Given the description of an element on the screen output the (x, y) to click on. 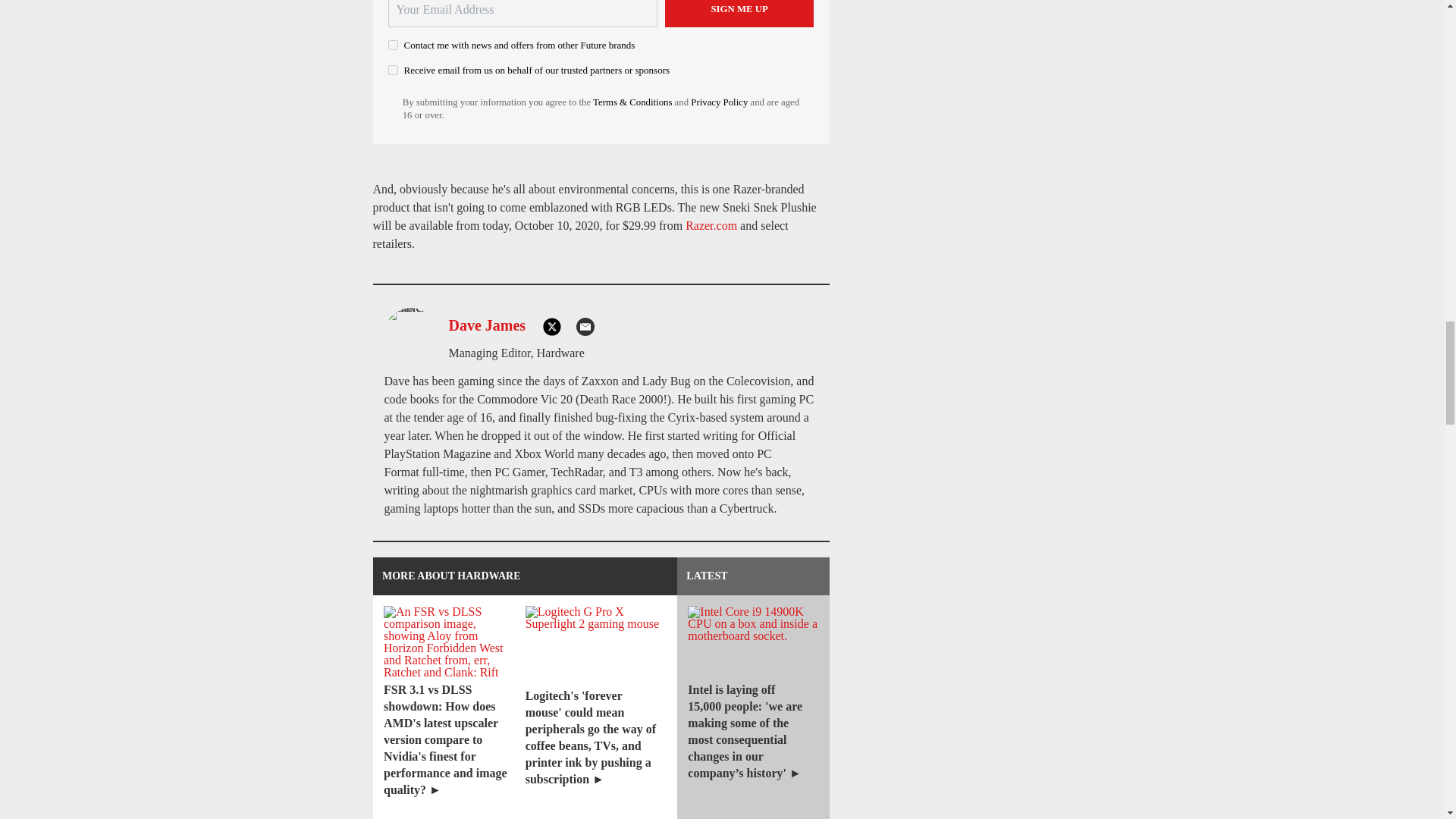
on (392, 70)
Sign me up (739, 13)
on (392, 44)
